Given the description of an element on the screen output the (x, y) to click on. 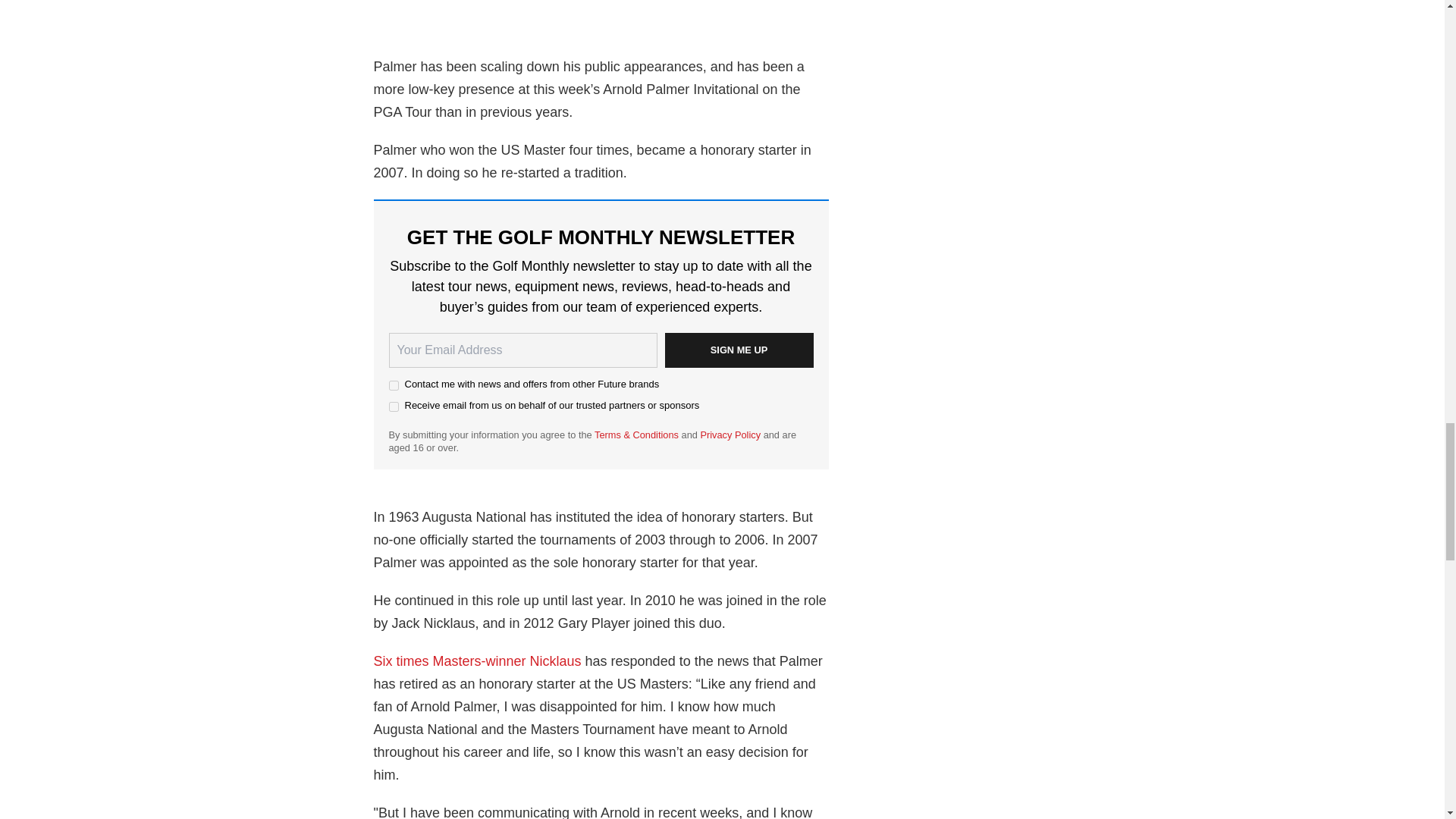
on (392, 385)
on (392, 406)
Sign me up (737, 349)
